Given the description of an element on the screen output the (x, y) to click on. 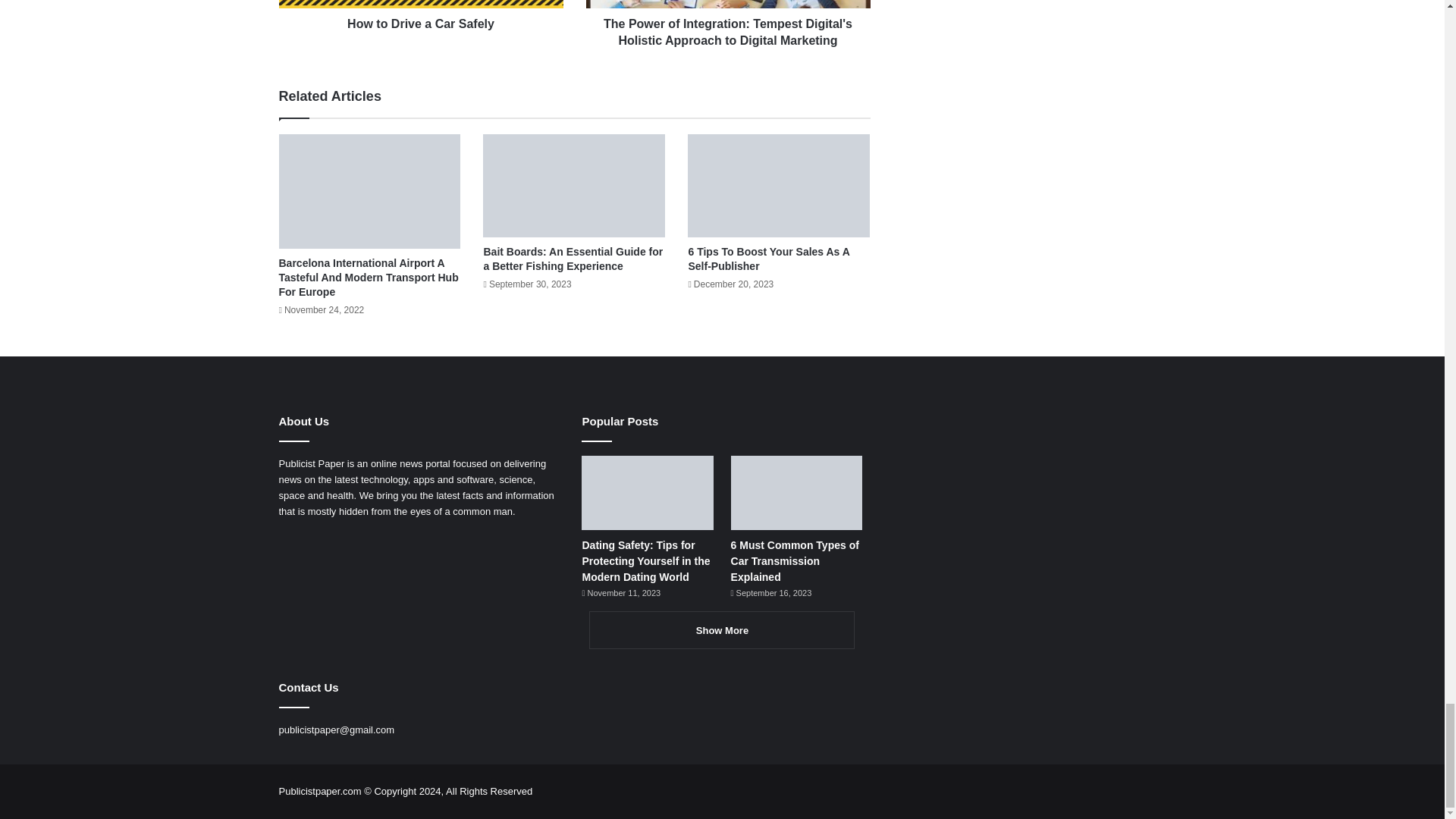
How to Drive a Car Safely (421, 20)
